Given the description of an element on the screen output the (x, y) to click on. 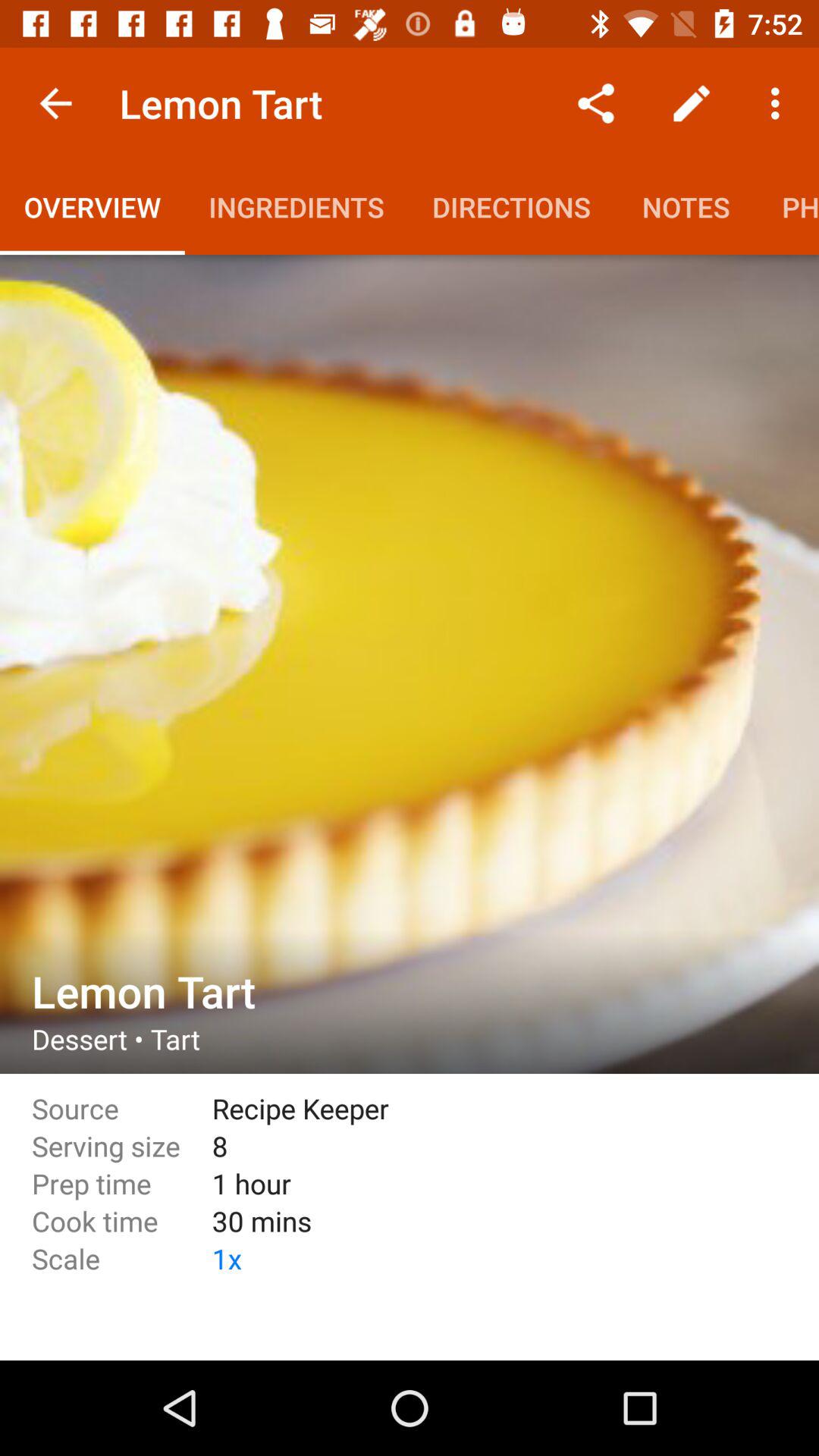
choose the icon to the right of cook time item (483, 1258)
